Given the description of an element on the screen output the (x, y) to click on. 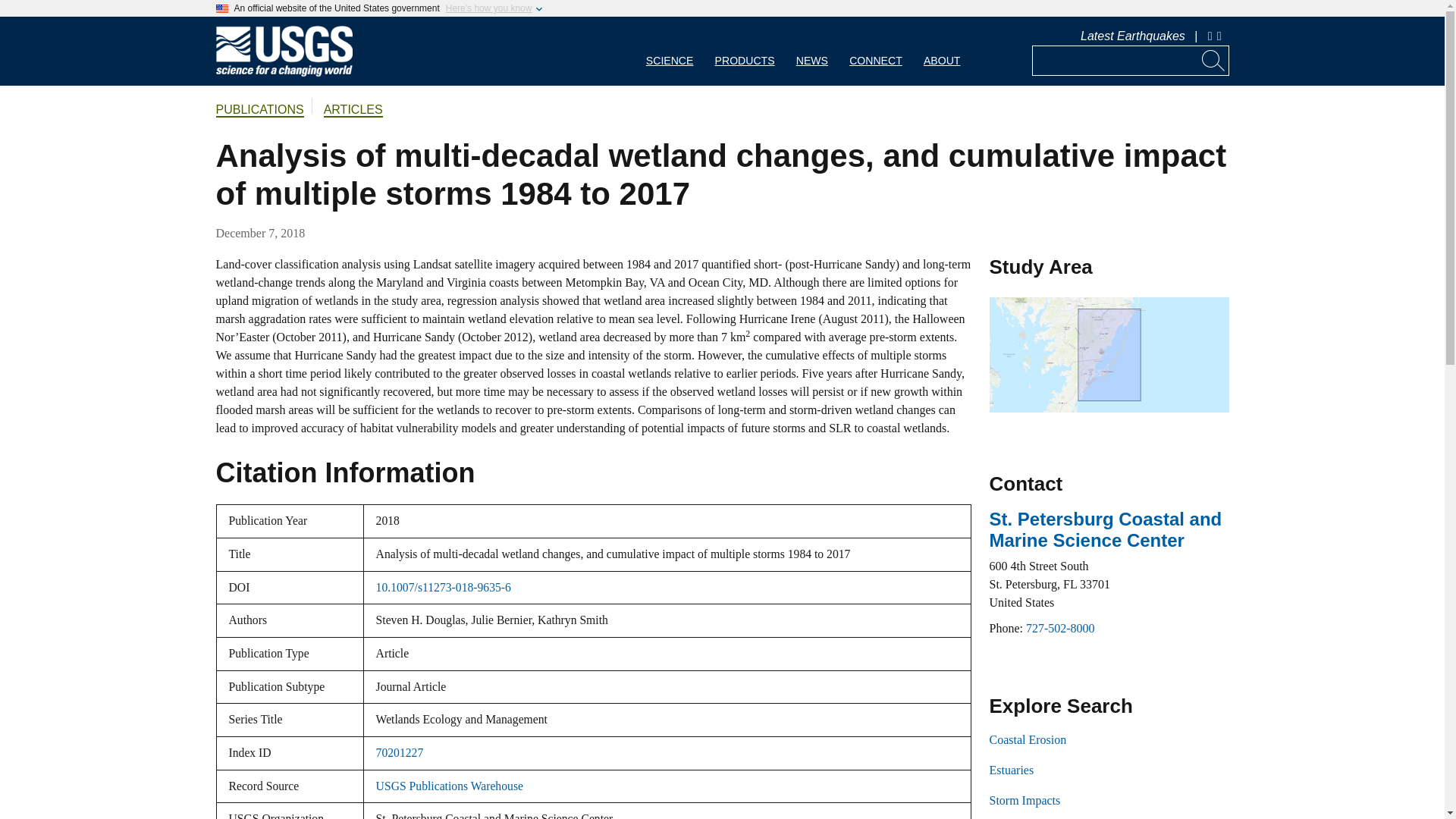
NEWS (812, 50)
ARTICLES (352, 110)
PUBLICATIONS (258, 110)
70201227 (399, 752)
Share Social Media (1220, 36)
CONNECT (875, 50)
Here's how you know (488, 8)
Latest Earthquakes (1132, 35)
PRODUCTS (745, 50)
ABOUT (941, 50)
SCIENCE (669, 50)
Home (283, 72)
